Given the description of an element on the screen output the (x, y) to click on. 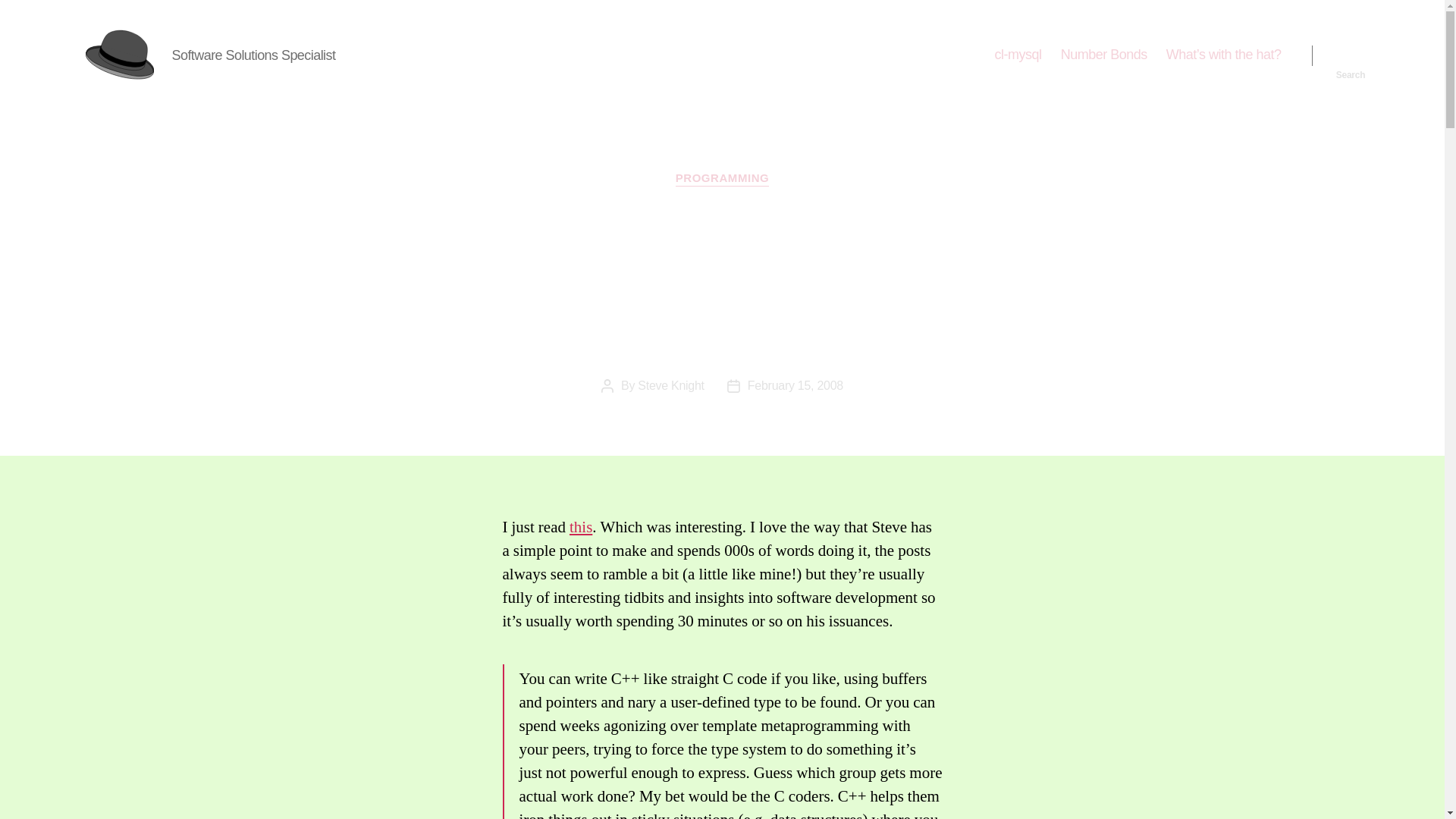
this (580, 526)
Search (1350, 55)
PROGRAMMING (722, 178)
cl-mysql (1018, 54)
Steve Knight (670, 385)
Number Bonds (1104, 54)
February 15, 2008 (795, 385)
